Given the description of an element on the screen output the (x, y) to click on. 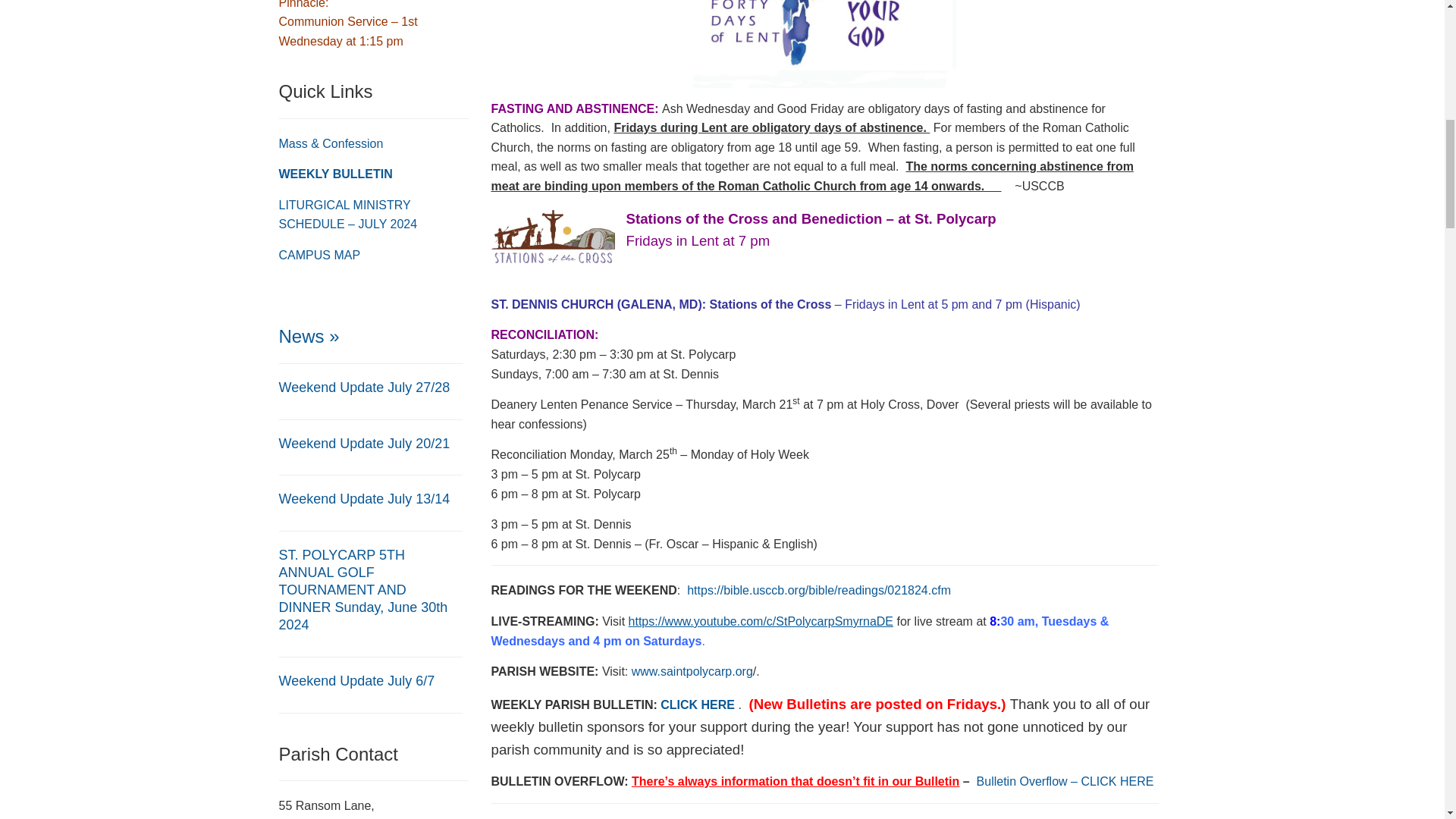
Announcements (309, 335)
